Given the description of an element on the screen output the (x, y) to click on. 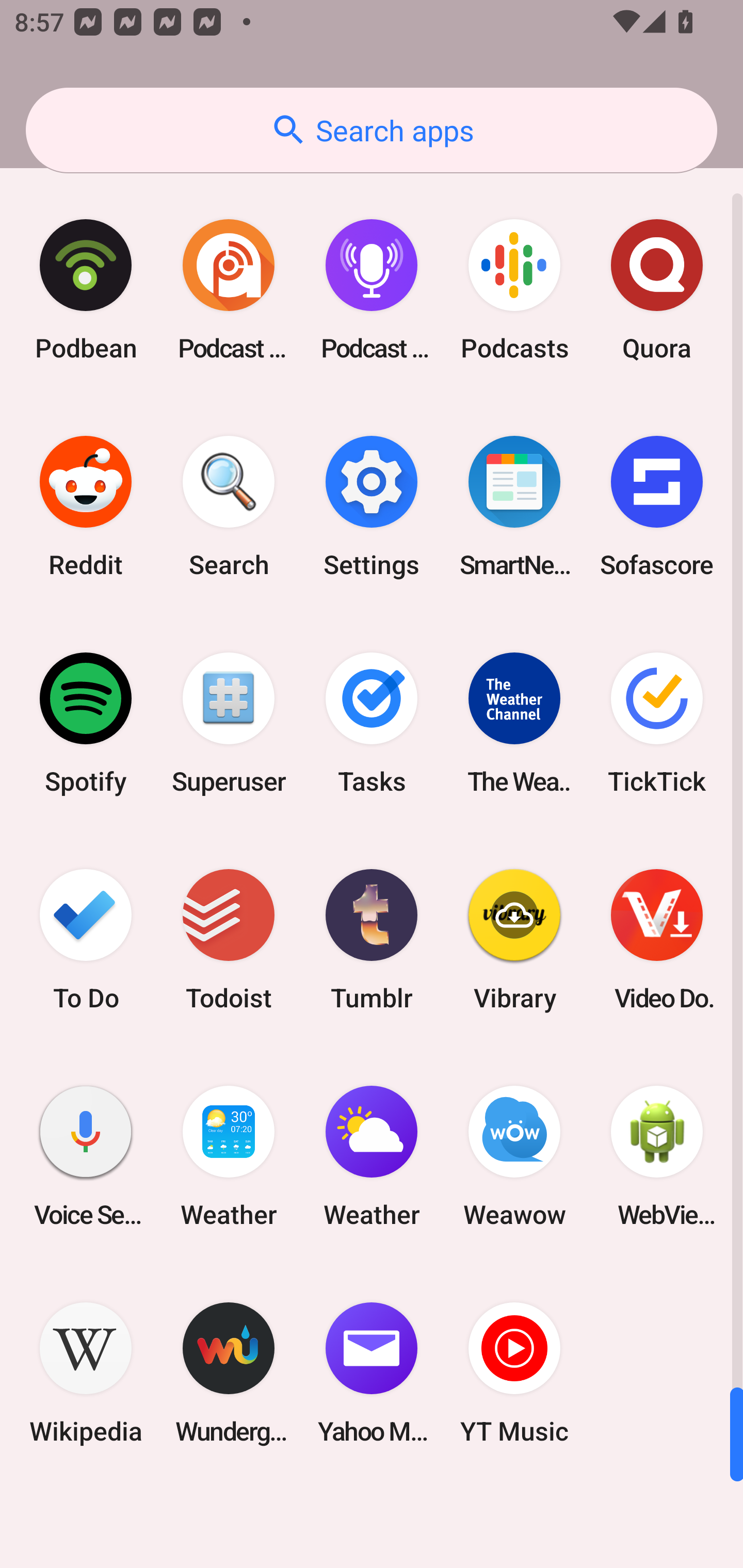
  Search apps (371, 130)
Podbean (85, 289)
Podcast Addict (228, 289)
Podcast Player (371, 289)
Podcasts (514, 289)
Quora (656, 289)
Reddit (85, 506)
Search (228, 506)
Settings (371, 506)
SmartNews (514, 506)
Sofascore (656, 506)
Spotify (85, 722)
Superuser (228, 722)
Tasks (371, 722)
The Weather Channel (514, 722)
TickTick (656, 722)
To Do (85, 939)
Todoist (228, 939)
Tumblr (371, 939)
Vibrary (514, 939)
Video Downloader & Ace Player (656, 939)
Voice Search (85, 1156)
Weather (228, 1156)
Weather (371, 1156)
Weawow (514, 1156)
WebView Browser Tester (656, 1156)
Wikipedia (85, 1373)
Wunderground (228, 1373)
Yahoo Mail (371, 1373)
YT Music (514, 1373)
